Given the description of an element on the screen output the (x, y) to click on. 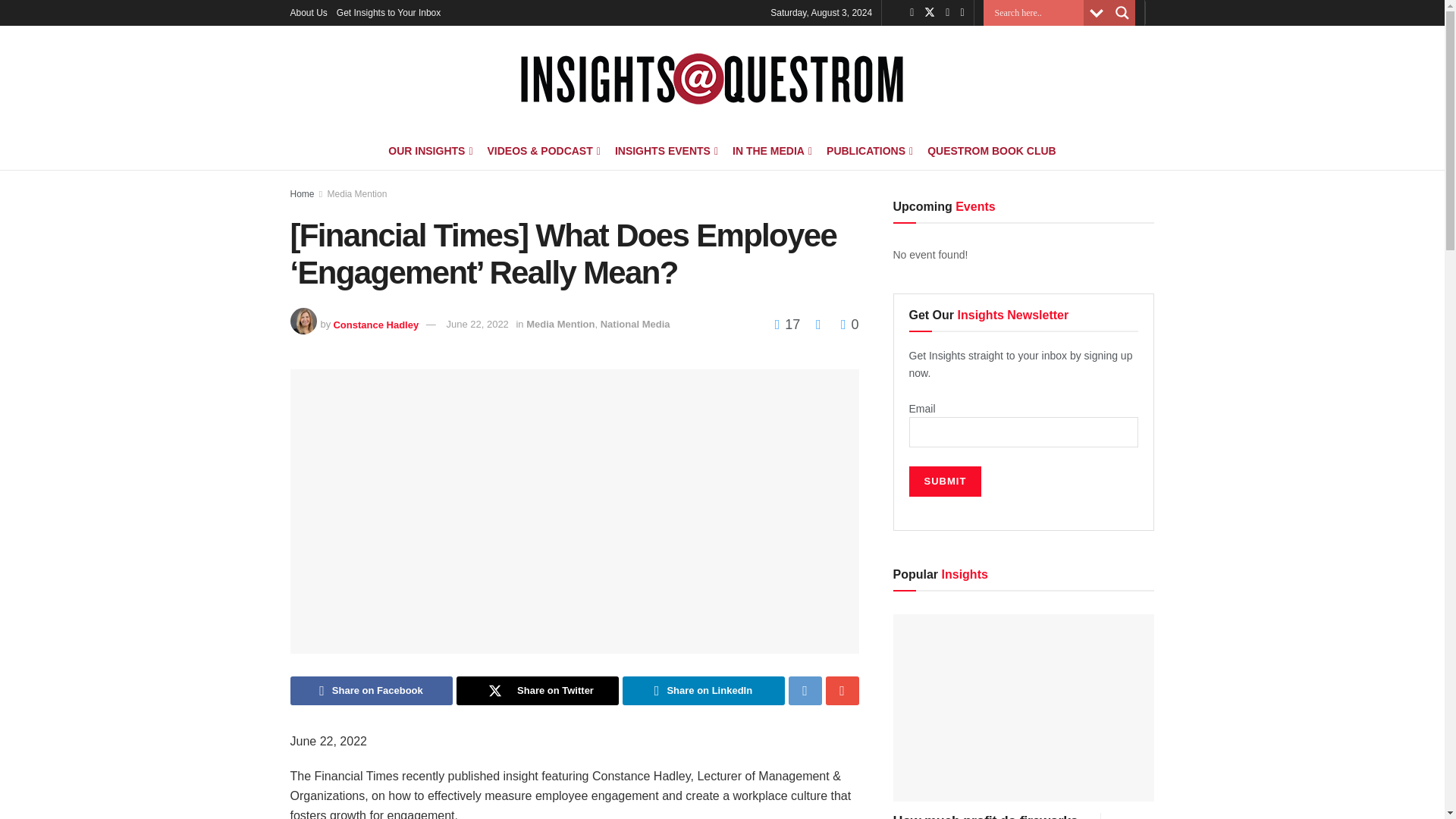
OUR INSIGHTS (429, 150)
About Us (307, 12)
Get Insights to Your Inbox (388, 12)
Submit (944, 481)
